Given the description of an element on the screen output the (x, y) to click on. 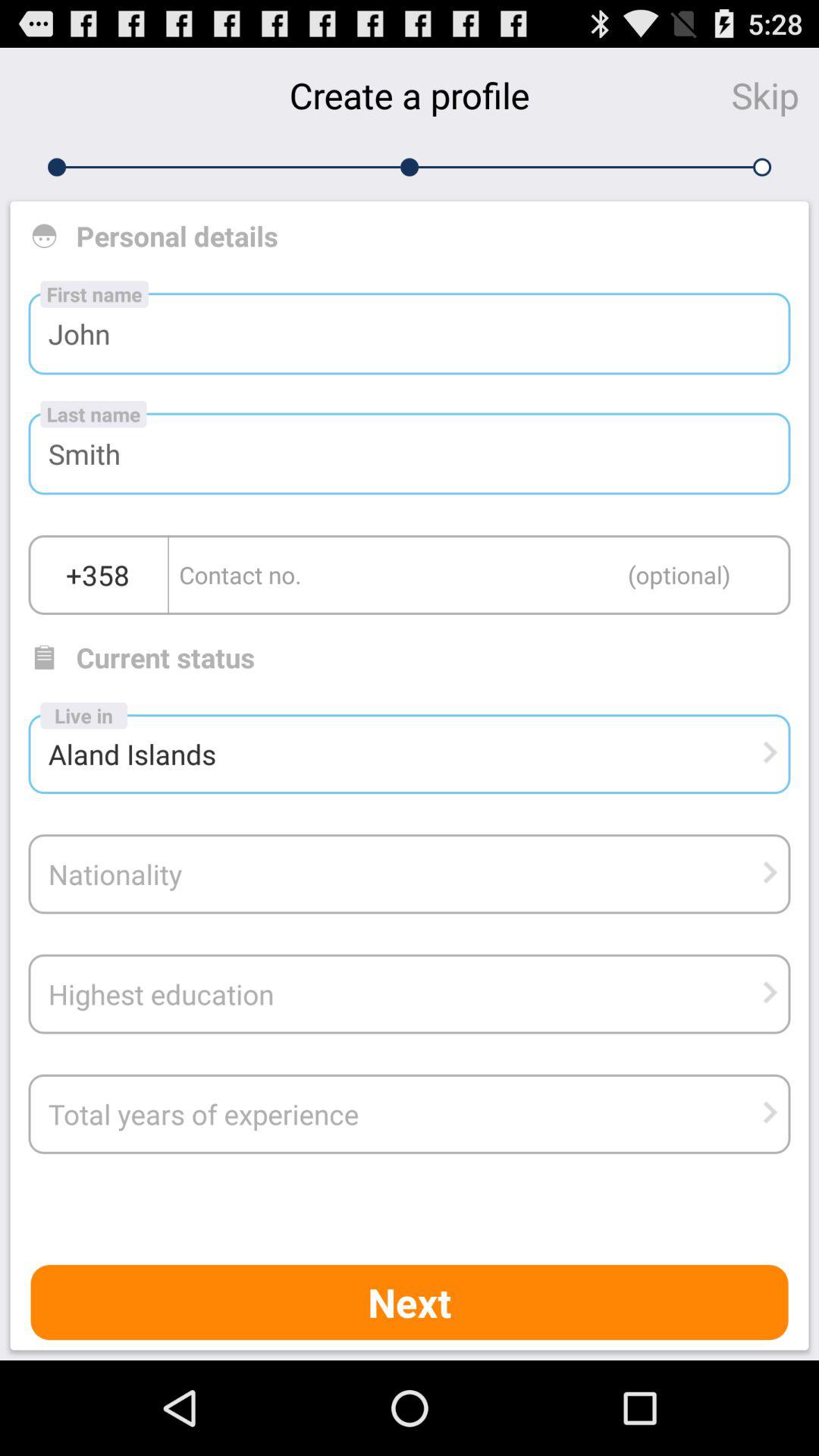
telefone number (479, 574)
